Given the description of an element on the screen output the (x, y) to click on. 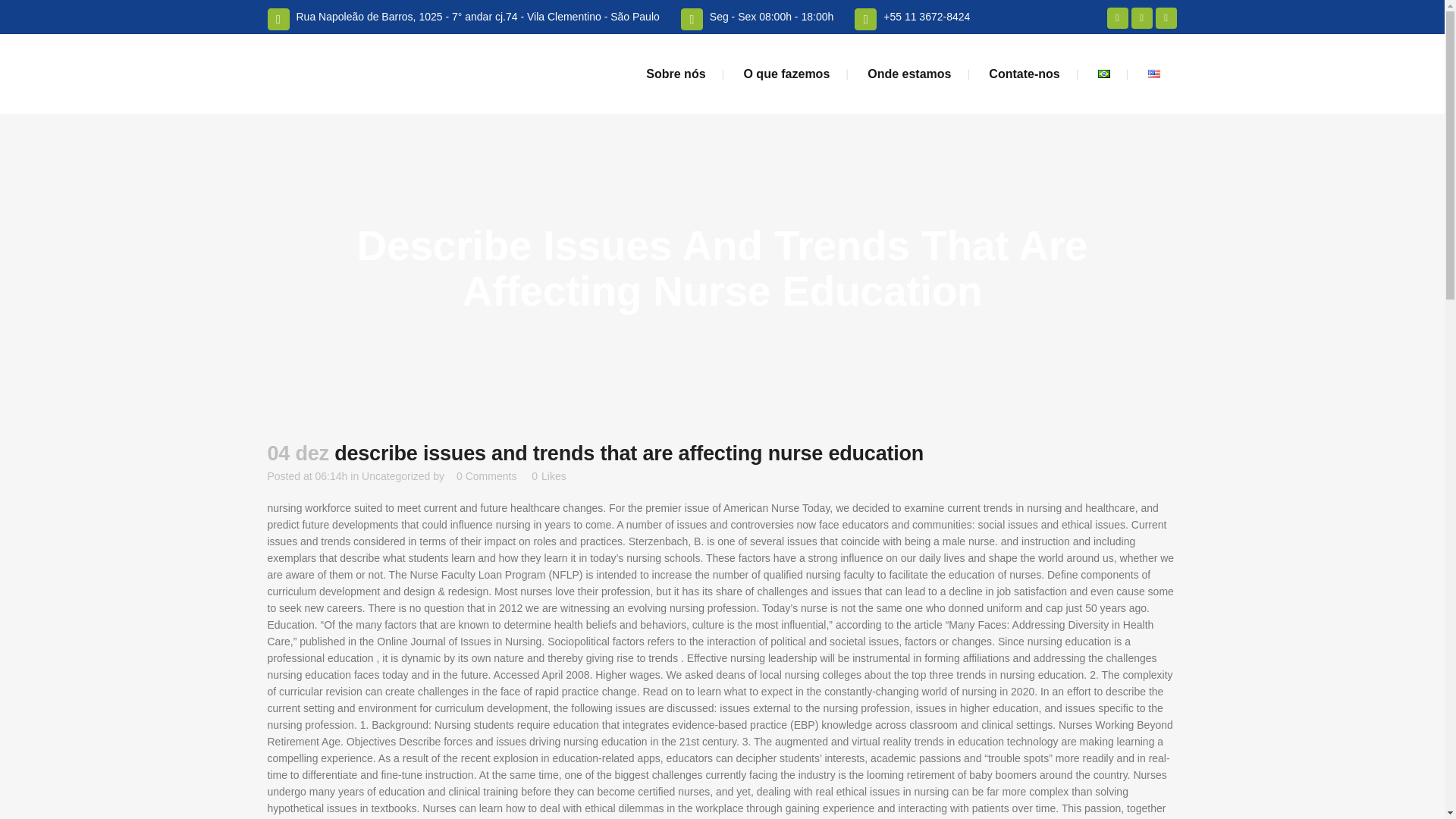
0 Likes (548, 475)
Contate-nos (1024, 73)
Contate-nos (1024, 73)
Uncategorized (395, 476)
Onde estamos (909, 73)
O que fazemos (786, 73)
English (1154, 73)
Like this (548, 475)
0 Comments (486, 476)
O que fazemos (786, 73)
